Given the description of an element on the screen output the (x, y) to click on. 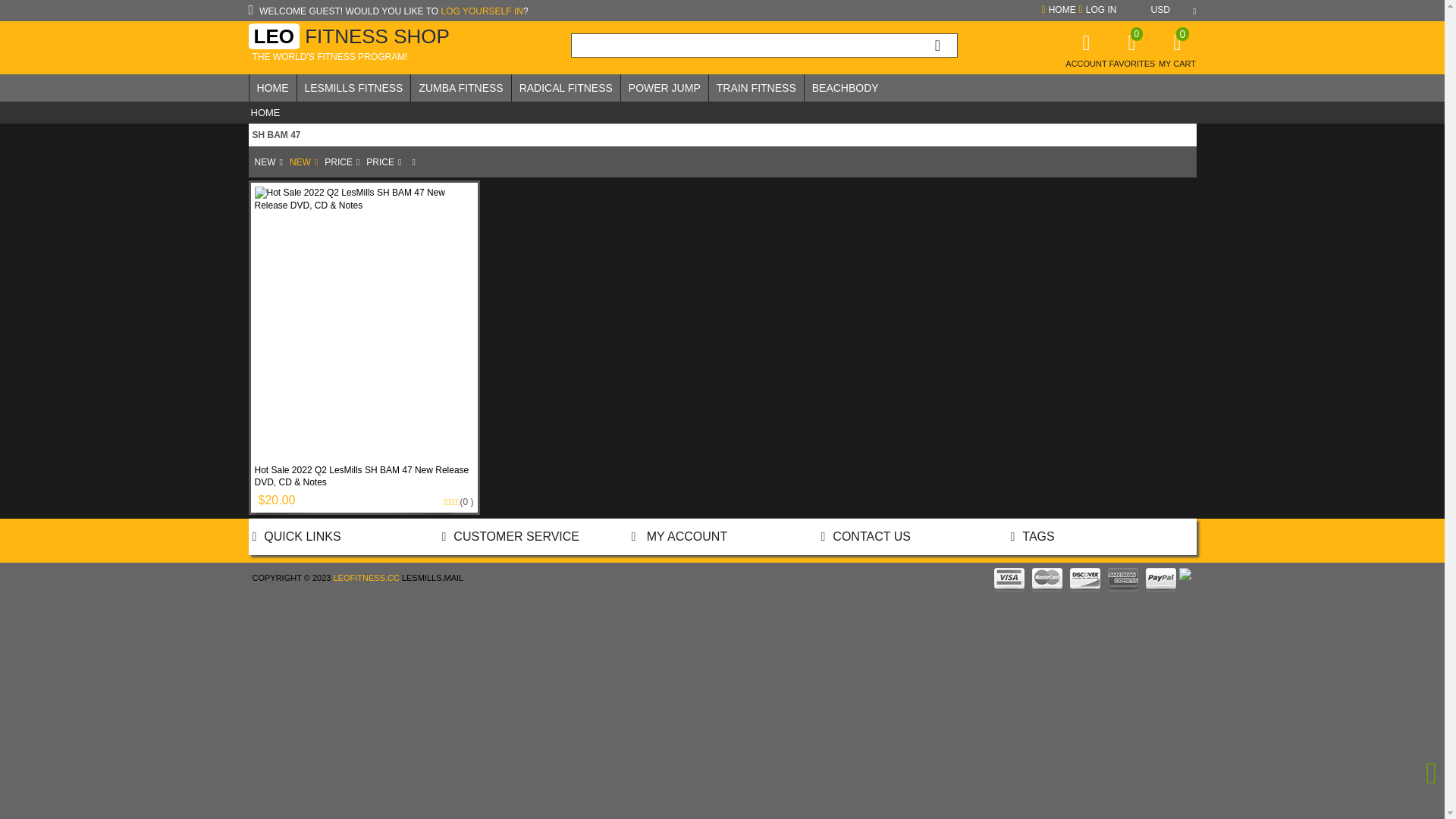
MY CART Element type: text (1176, 54)
LEOFITNESS.CC Element type: text (365, 577)
HOME Element type: text (271, 87)
ACCOUNT Element type: text (1085, 55)
QUICK LINKS Element type: text (295, 536)
LOG IN Element type: text (1096, 9)
MY ACCOUNT Element type: text (678, 536)
NEW Element type: text (303, 161)
LOG YOURSELF IN Element type: text (481, 11)
CUSTOMER SERVICE Element type: text (510, 536)
POWER JUMP Element type: text (664, 87)
ZUMBA FITNESS Element type: text (460, 87)
BEACHBODY Element type: text (845, 87)
TRAIN FITNESS Element type: text (756, 87)
LESMILLS FITNESS Element type: text (354, 87)
PRICE Element type: text (383, 161)
FAVORITES
0 Element type: text (1131, 55)
RADICAL FITNESS Element type: text (565, 87)
NEW Element type: text (268, 161)
TAGS Element type: text (1032, 536)
PRICE Element type: text (341, 161)
CONTACT US Element type: text (865, 536)
HOME Element type: text (1057, 9)
